Given the description of an element on the screen output the (x, y) to click on. 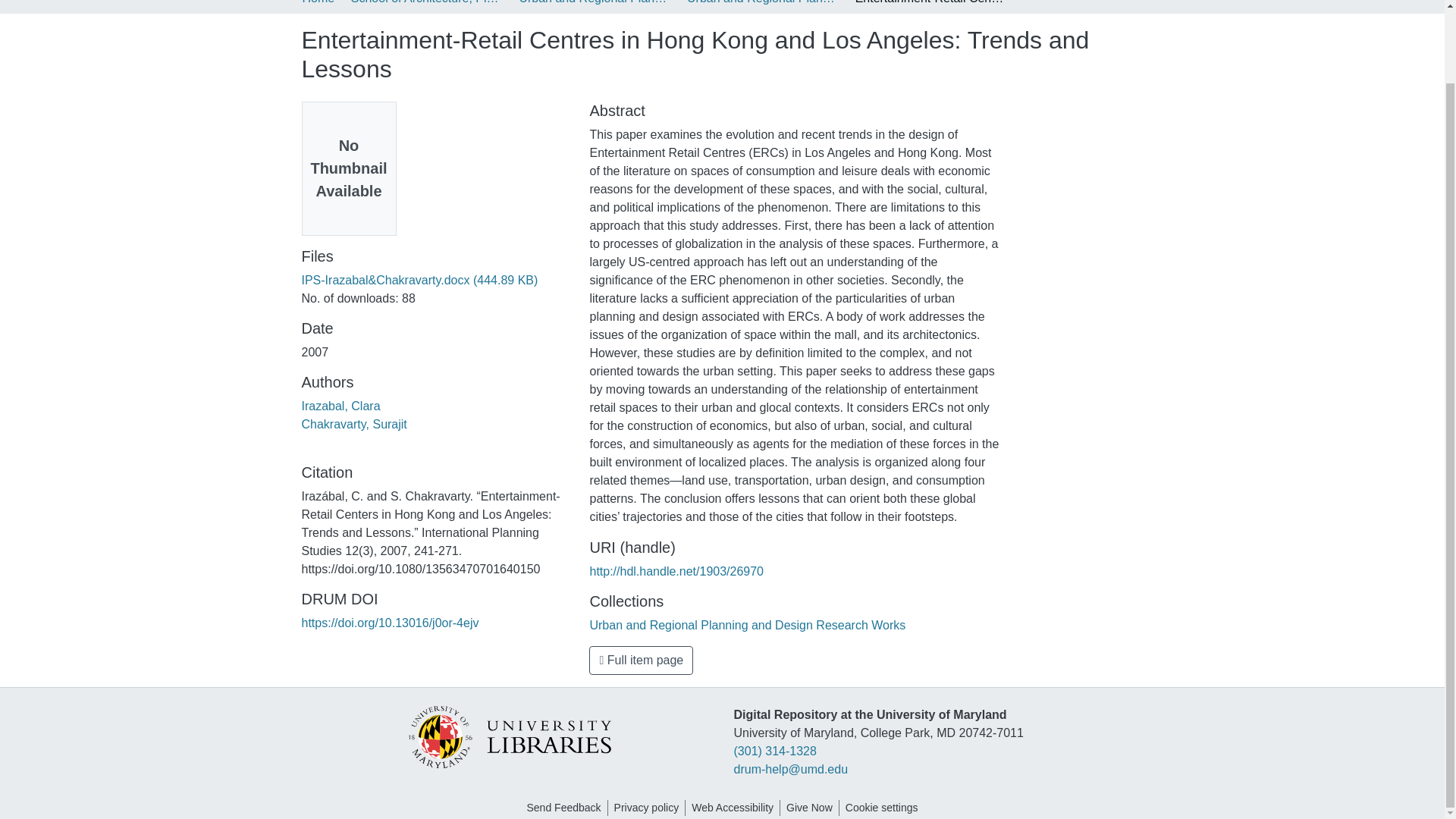
Cookie settings (882, 807)
Libraries Home Page (508, 735)
Irazabal, Clara (340, 405)
Chakravarty, Surajit (354, 423)
Home (317, 3)
Full item page (641, 660)
Send Feedback (563, 807)
Urban and Regional Planning and Design Research Works (762, 3)
Urban and Regional Planning and Design (593, 3)
Web Accessibility (731, 807)
Give Now (809, 807)
Privacy policy (646, 807)
Urban and Regional Planning and Design Research Works (747, 625)
